Given the description of an element on the screen output the (x, y) to click on. 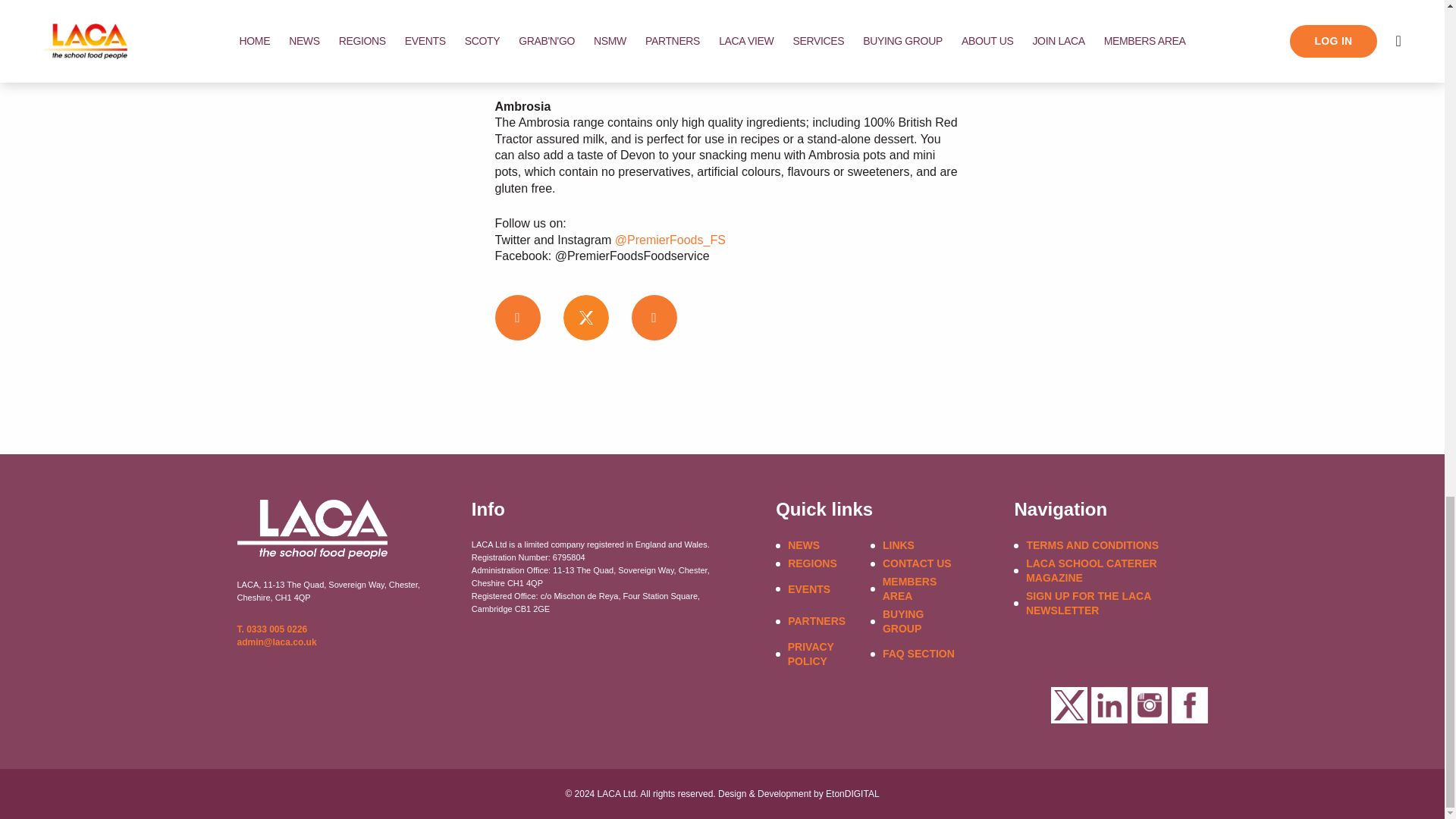
T. 0333 005 0226 (271, 629)
CONTACT US (917, 563)
NEWS (803, 545)
REGIONS (812, 563)
LINKS (898, 545)
